Given the description of an element on the screen output the (x, y) to click on. 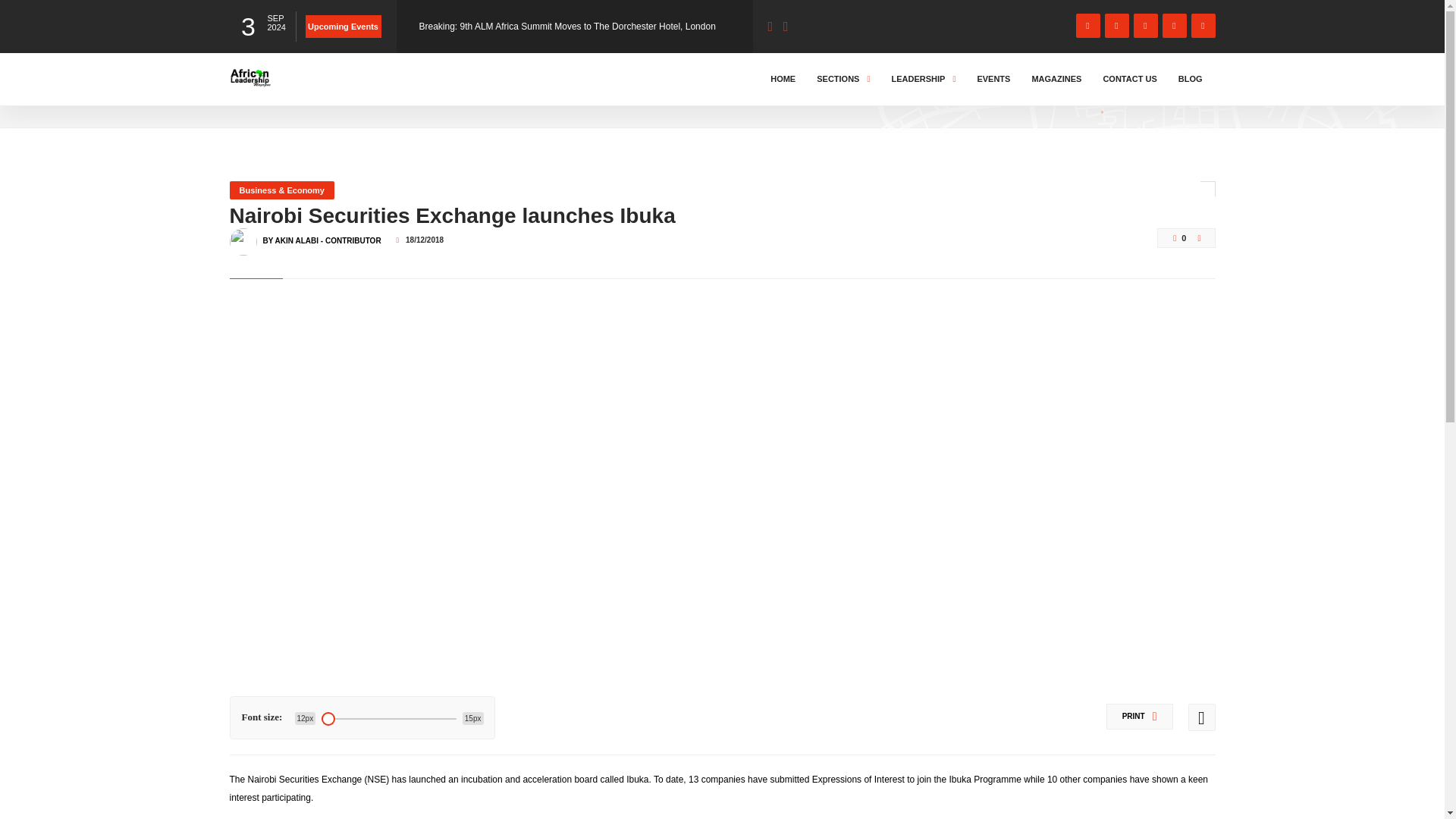
BLOG (1190, 79)
BLOG (293, 92)
SECTIONS (842, 79)
PRINT (1139, 716)
Scroll Down To Discover (1154, 88)
EVENTS (992, 79)
HOME (782, 79)
HOME (246, 92)
